Given the description of an element on the screen output the (x, y) to click on. 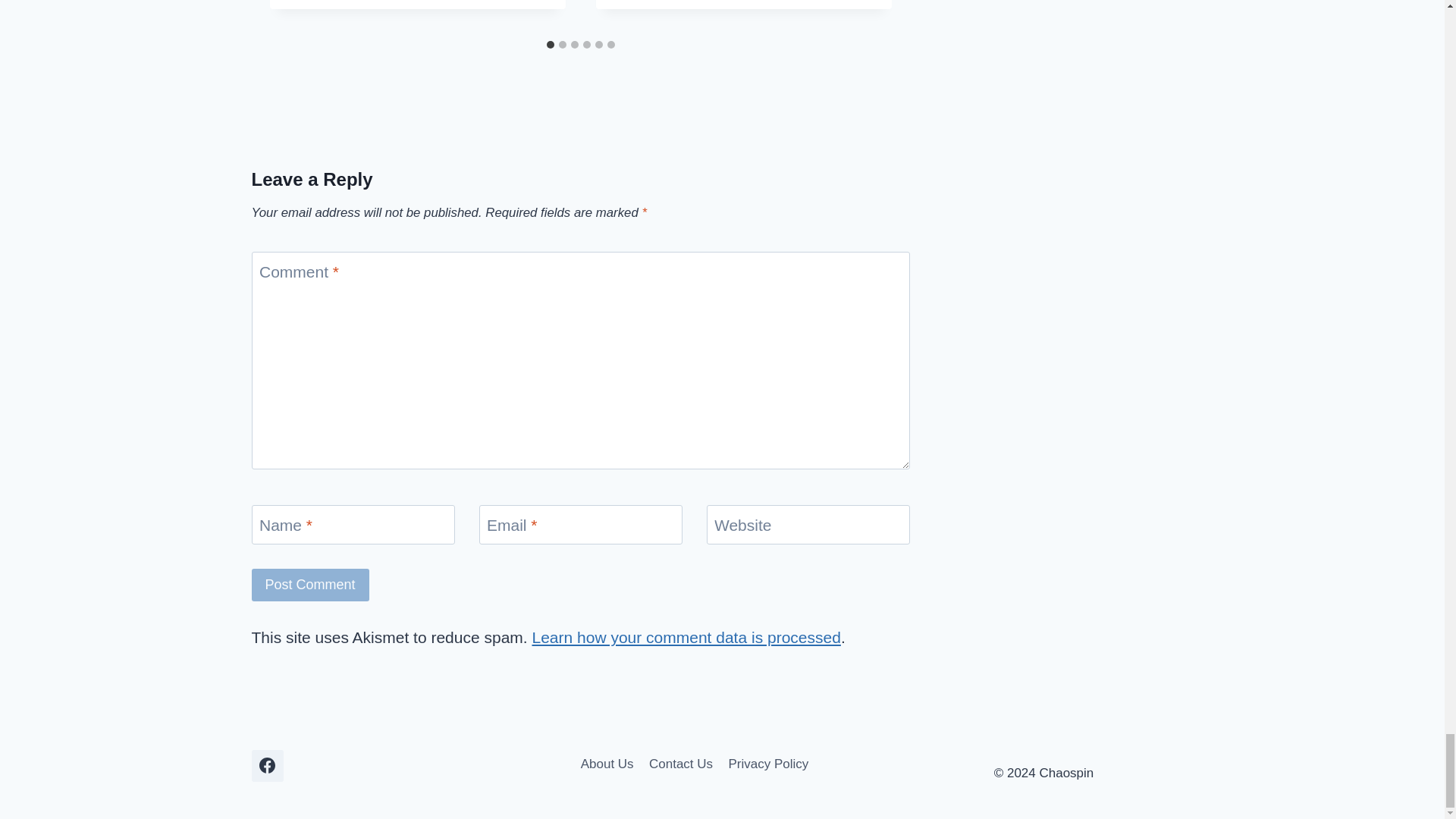
Post Comment (310, 584)
